Given the description of an element on the screen output the (x, y) to click on. 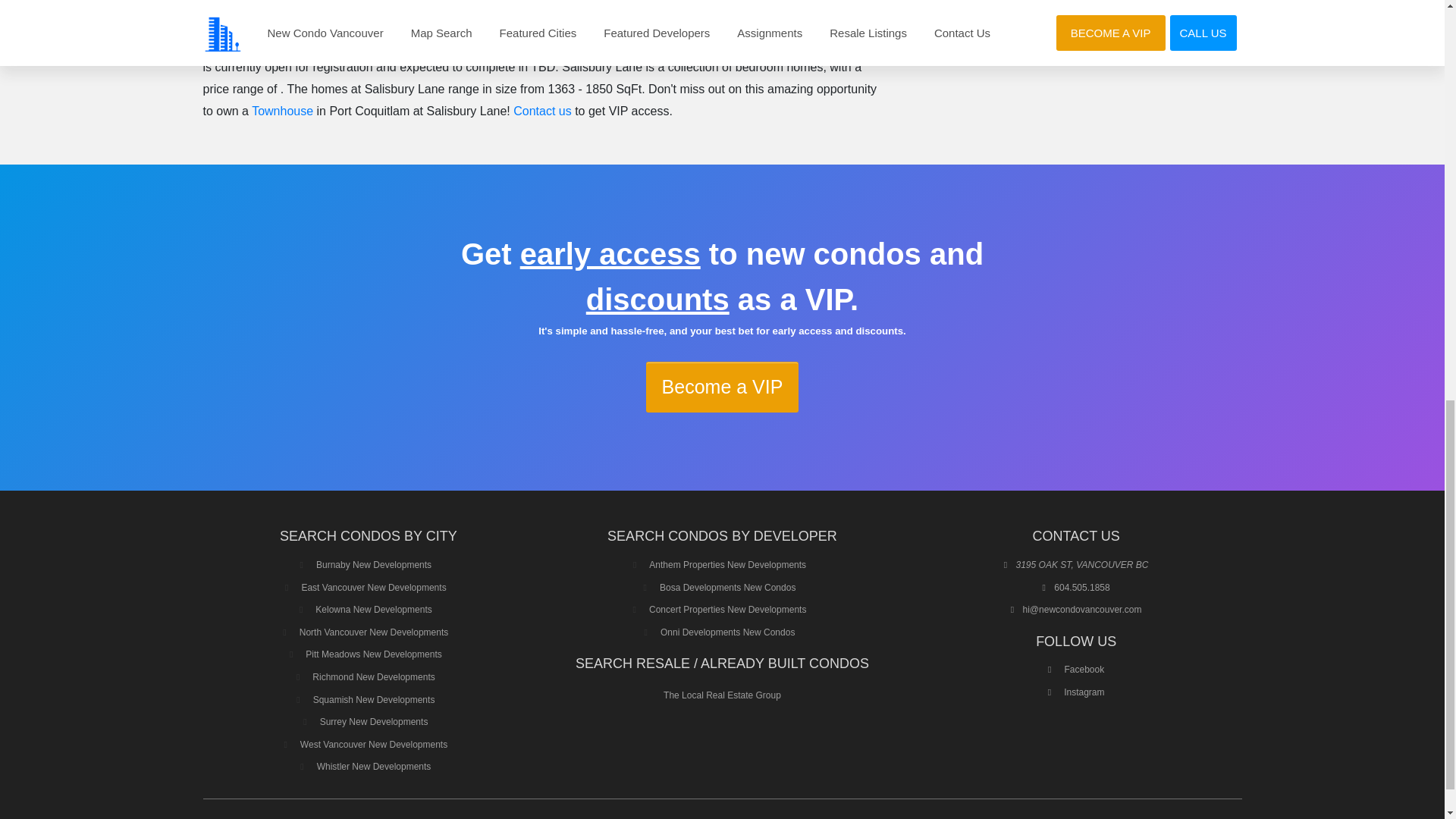
West Vancouver New Developments (372, 744)
Richmond New Developments (373, 676)
Become a VIP (722, 386)
Townhouse (556, 44)
604.505.1858 (1081, 587)
Anthem Properties New Developments (727, 564)
Bosa Developments New Condos (726, 587)
The Local Real Estate Group (721, 695)
Instagram (1076, 692)
Whistler New Developments (373, 766)
Pitt Meadows New Developments (373, 654)
North Vancouver New Developments (373, 632)
Concert Properties New Developments (727, 609)
Burnaby New Developments (372, 564)
Squamish New Developments (374, 699)
